Given the description of an element on the screen output the (x, y) to click on. 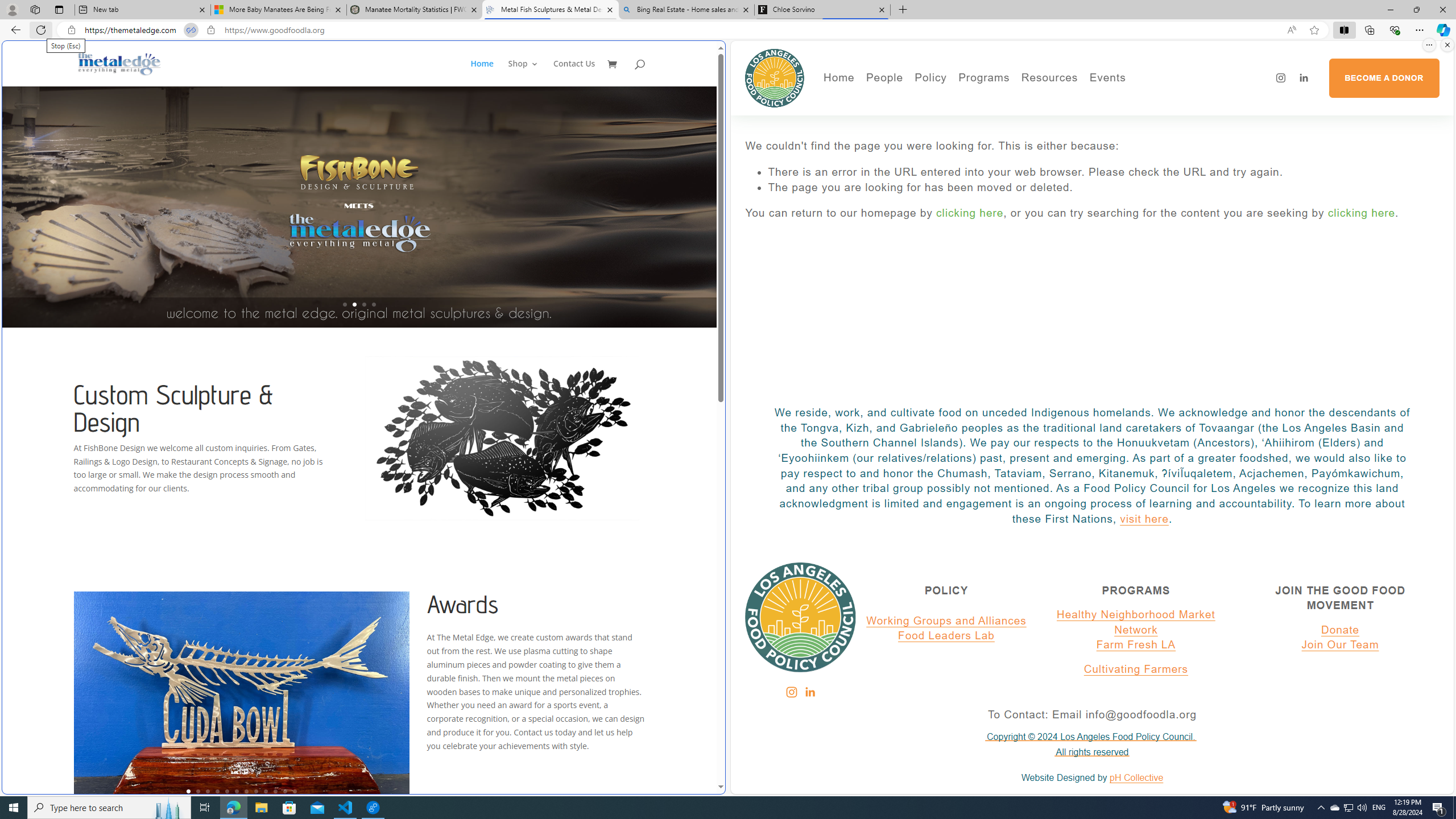
Chloe Sorvino (822, 9)
12 (294, 790)
9 (265, 790)
Food Rescue Macro Grants (1093, 132)
About (922, 99)
Shop3 (529, 72)
Metal Fish Sculptures & Metal Designs (119, 63)
Los Angeles Food Policy Council (774, 77)
